Given the description of an element on the screen output the (x, y) to click on. 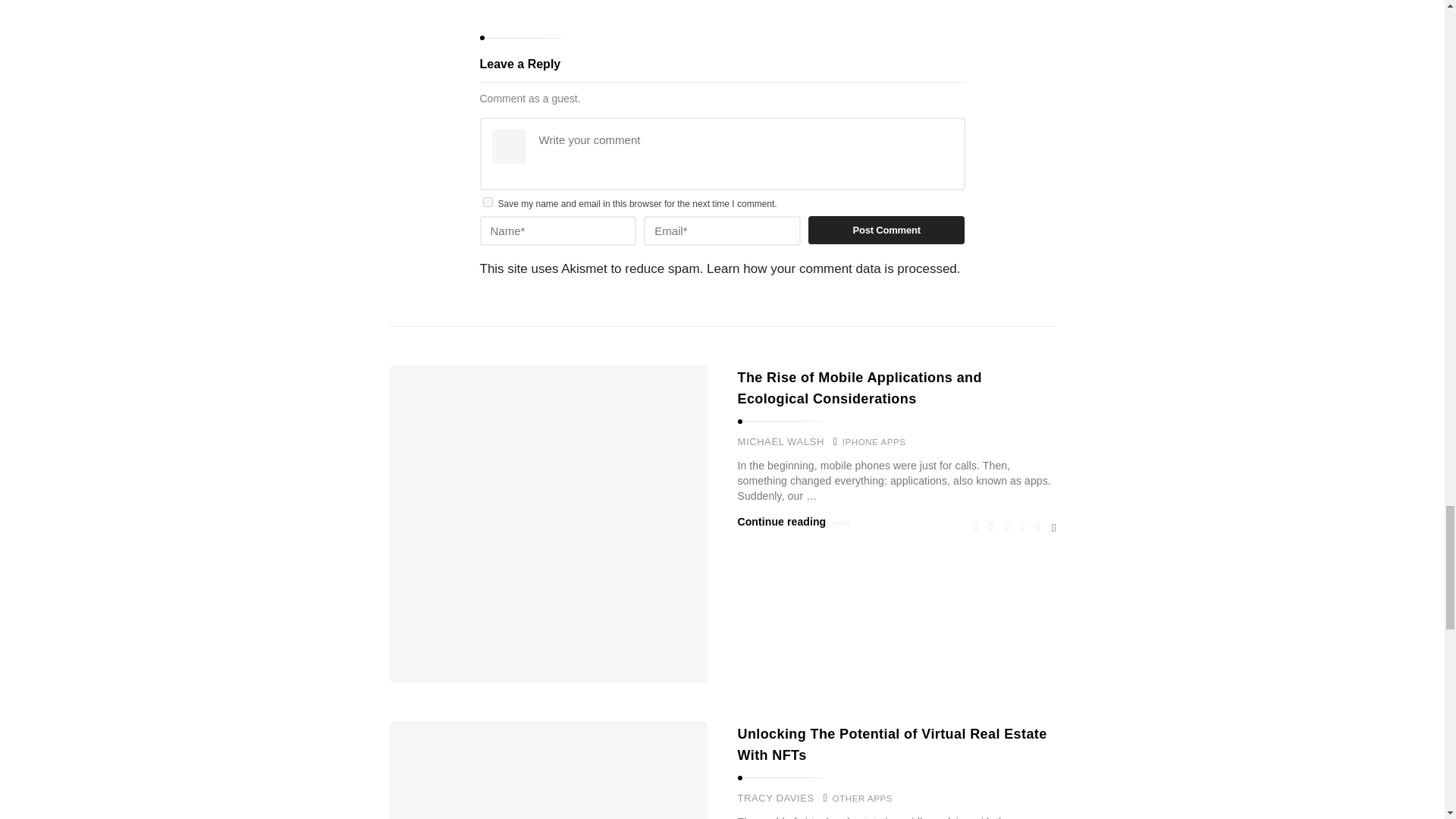
yes (486, 202)
IPHONE APPS (874, 441)
Learn how your comment data is processed (831, 268)
MICHAEL WALSH (780, 441)
Post Comment (886, 230)
Continue reading (792, 521)
Post Comment (886, 230)
